Given the description of an element on the screen output the (x, y) to click on. 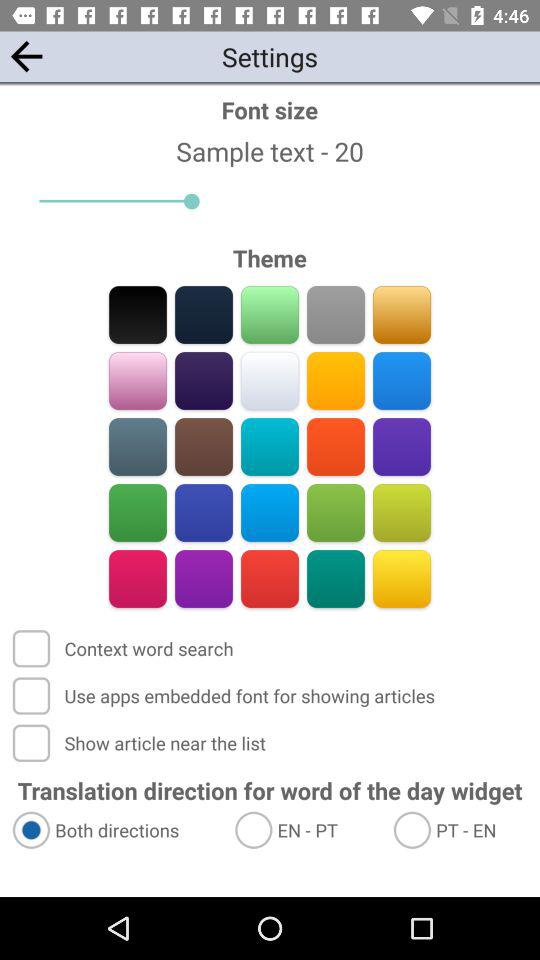
color selection (335, 380)
